Given the description of an element on the screen output the (x, y) to click on. 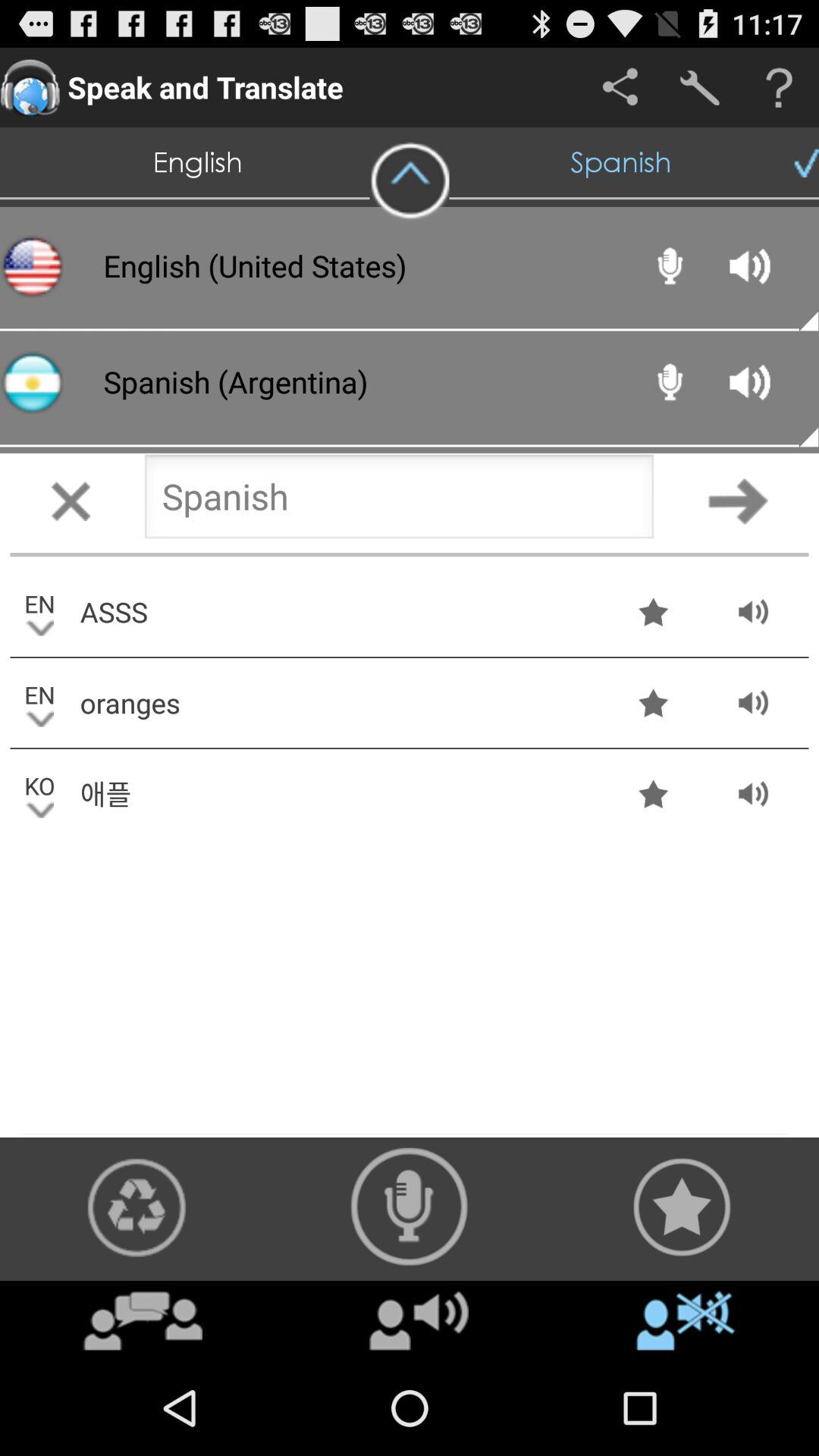
close tap (70, 500)
